Given the description of an element on the screen output the (x, y) to click on. 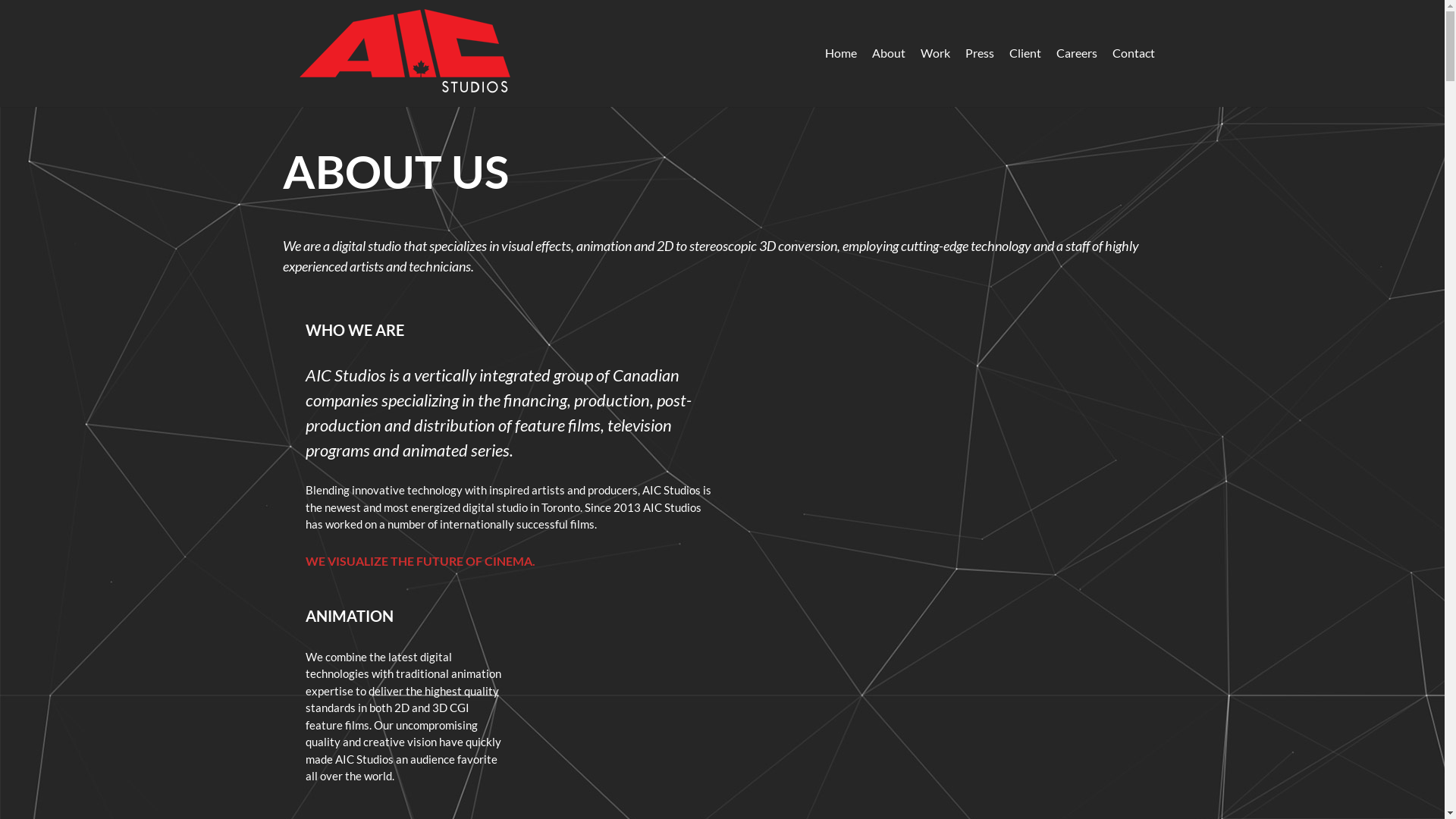
Work Element type: text (935, 52)
Careers Element type: text (1076, 52)
Press Element type: text (979, 52)
Client Element type: text (1024, 52)
About Element type: text (888, 52)
Home Element type: text (840, 52)
Contact Element type: text (1132, 52)
